Given the description of an element on the screen output the (x, y) to click on. 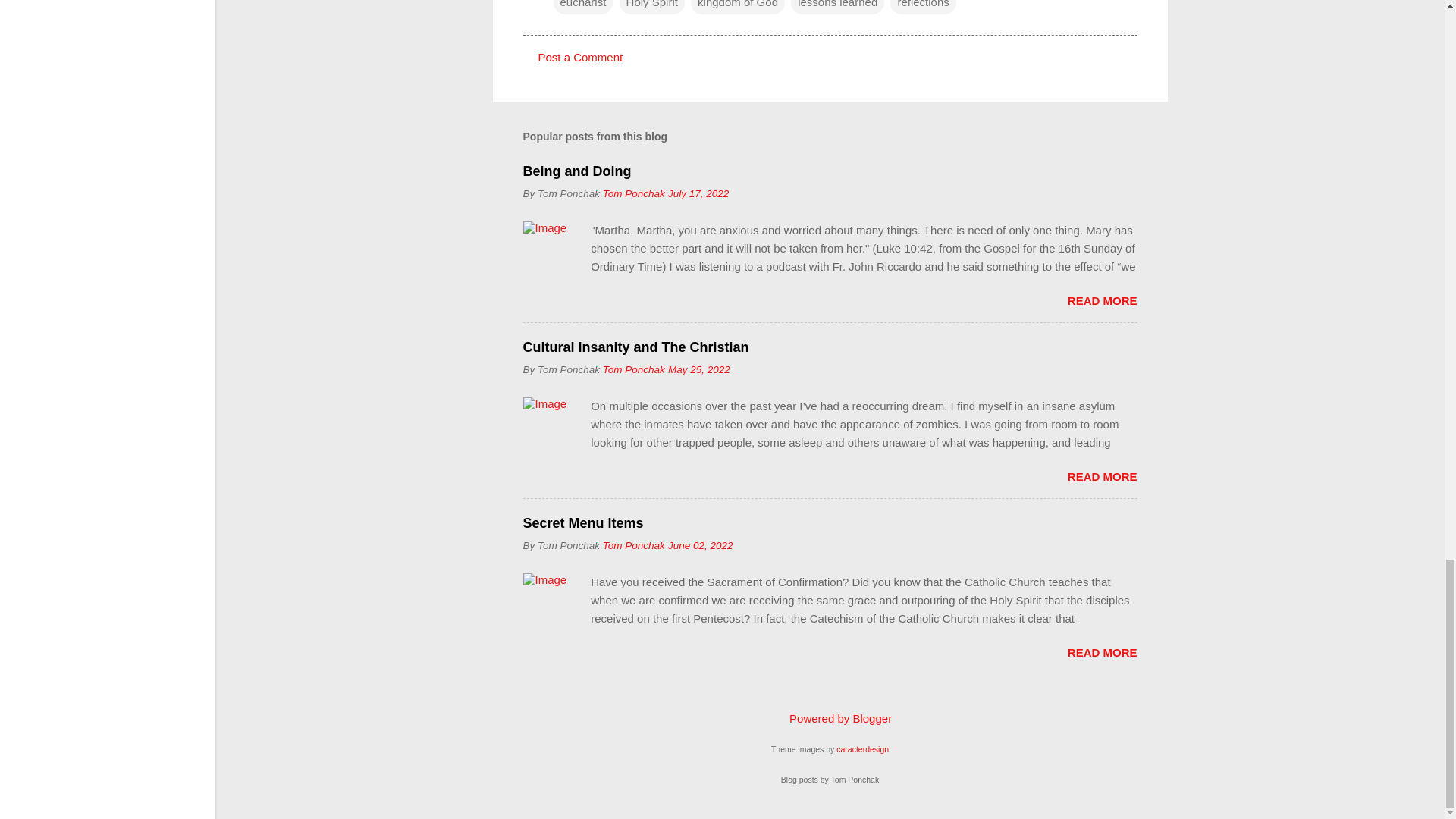
May 25, 2022 (699, 369)
kingdom of God (737, 7)
READ MORE (1102, 652)
eucharist (582, 7)
lessons learned (836, 7)
June 02, 2022 (700, 545)
Tom Ponchak (633, 369)
July 17, 2022 (698, 193)
Tom Ponchak (633, 193)
READ MORE (1102, 300)
